Given the description of an element on the screen output the (x, y) to click on. 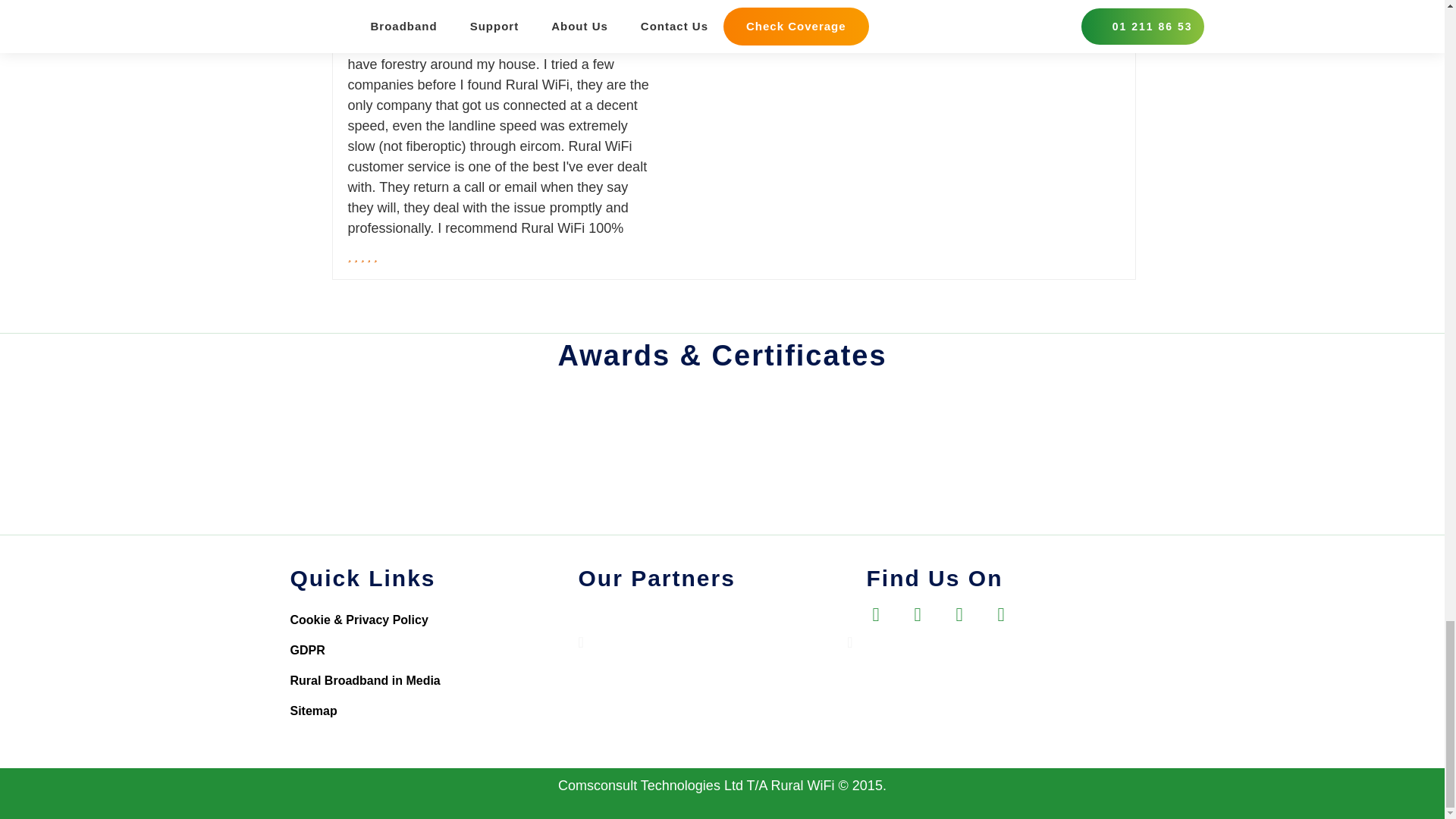
Sitemap (433, 711)
GDPR (433, 650)
Rural Broadband in Media (433, 680)
